Given the description of an element on the screen output the (x, y) to click on. 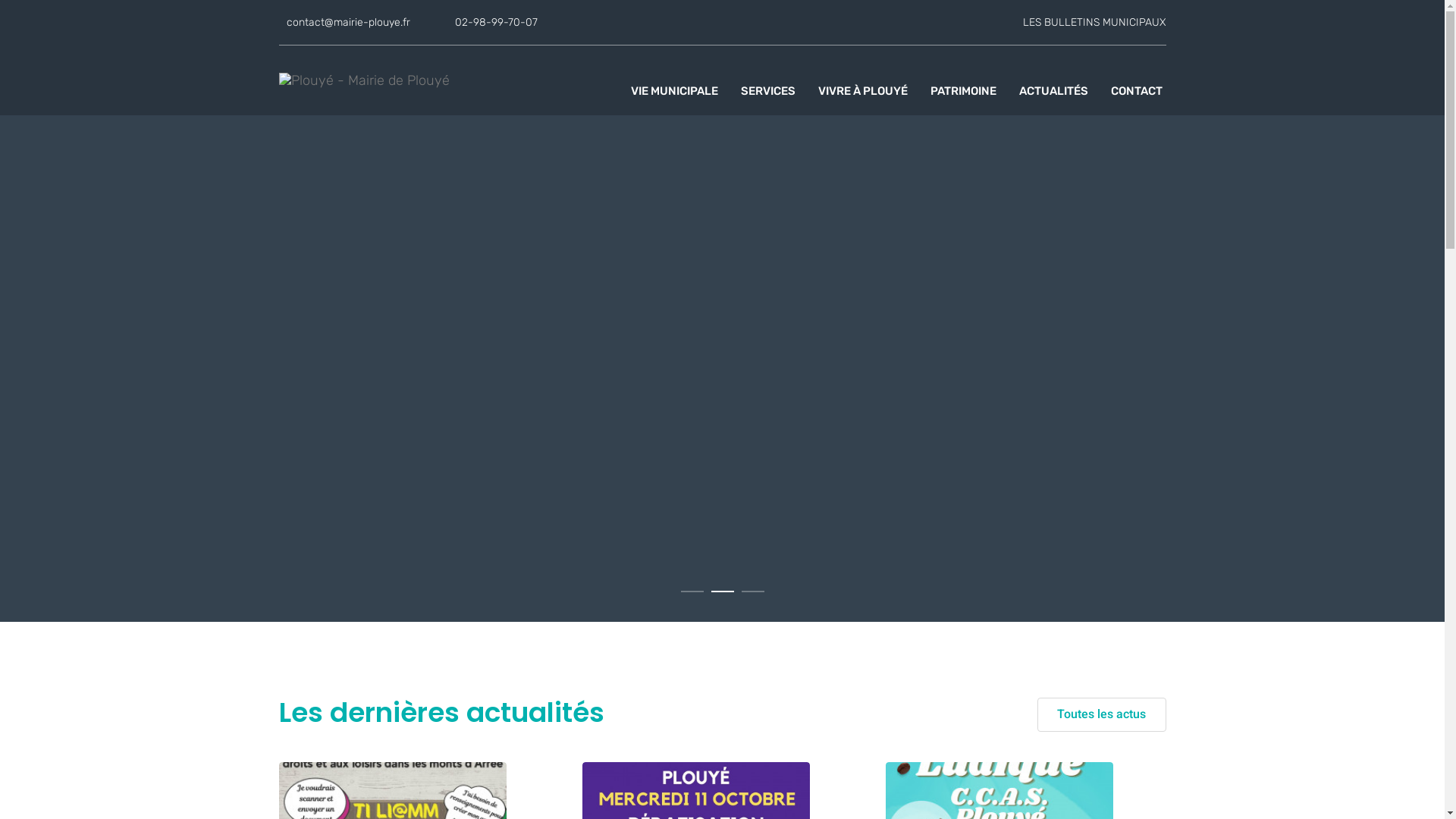
SERVICES Element type: text (767, 90)
VIE MUNICIPALE Element type: text (674, 90)
PATRIMOINE Element type: text (962, 90)
Toutes les actus Element type: text (1101, 714)
LES BULLETINS MUNICIPAUX Element type: text (1093, 21)
contact@mairie-plouye.fr Element type: text (348, 21)
Suivante Element type: text (1407, 317)
CONTACT Element type: text (1135, 90)
